Given the description of an element on the screen output the (x, y) to click on. 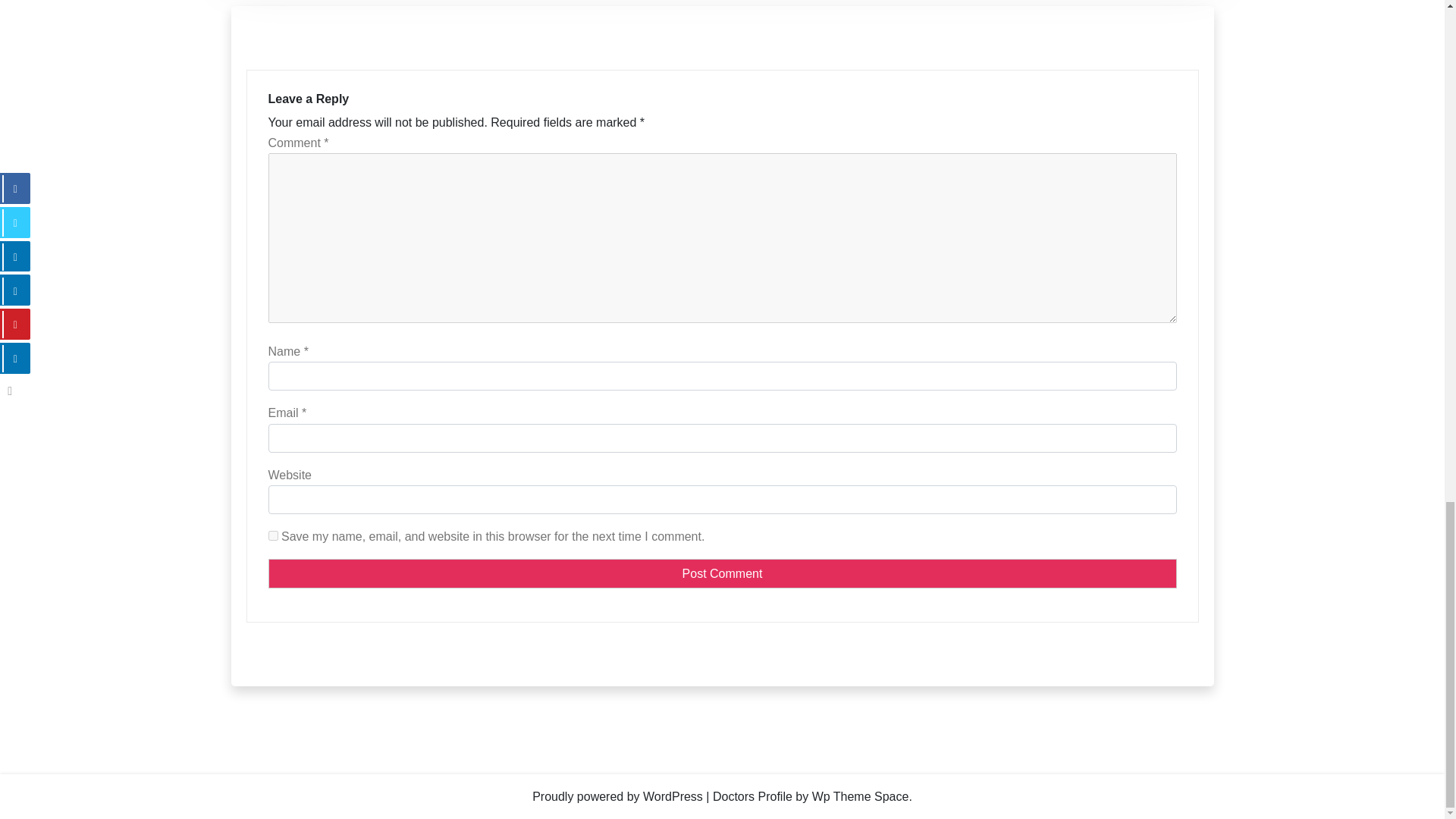
Post Comment (721, 573)
yes (272, 535)
